Given the description of an element on the screen output the (x, y) to click on. 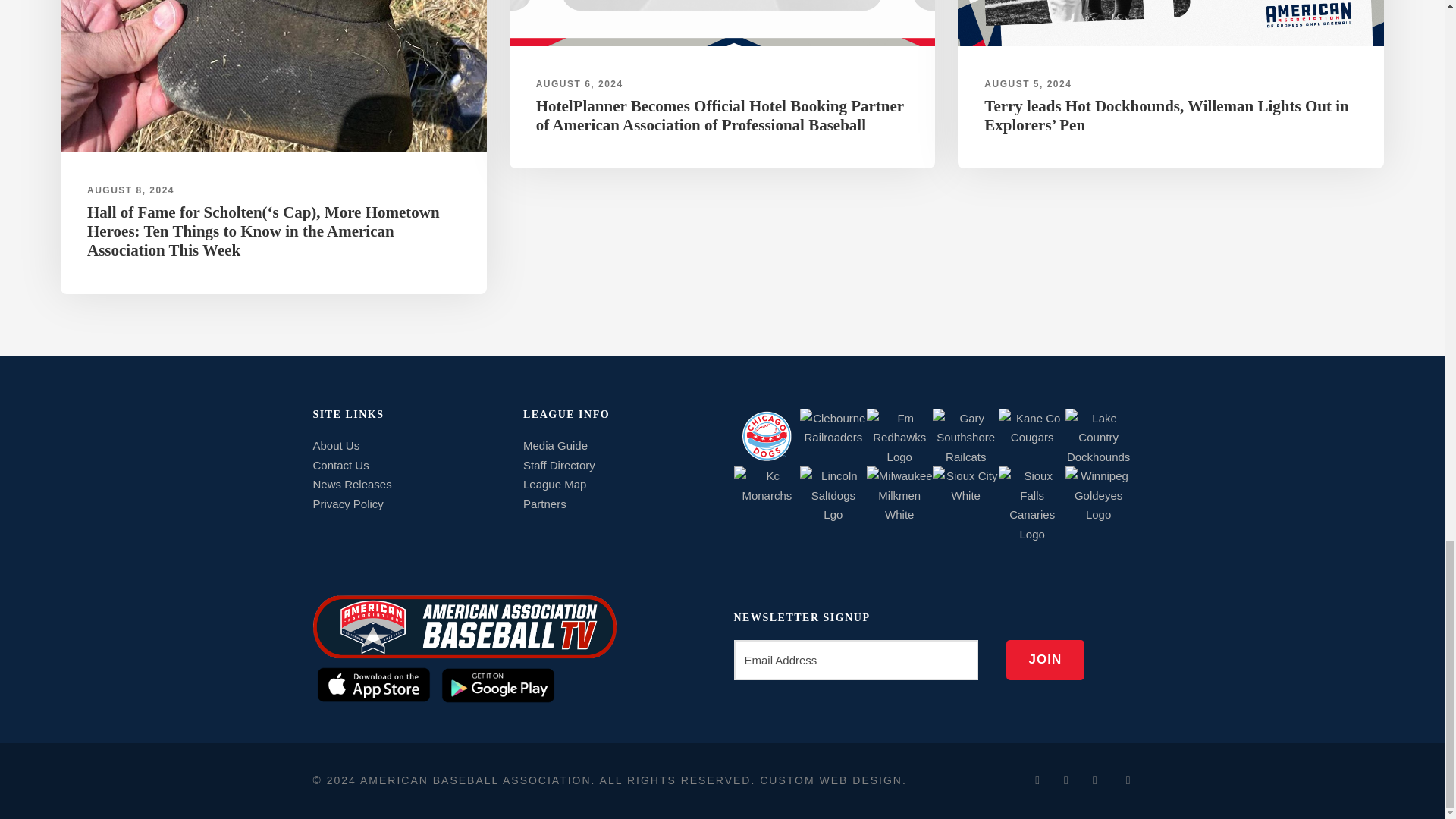
Hotel Planner Partnership (722, 22)
Join (1045, 659)
Gupqqvpwcaah2tu (273, 76)
Gupwmrcwsaalibf (1171, 22)
